Given the description of an element on the screen output the (x, y) to click on. 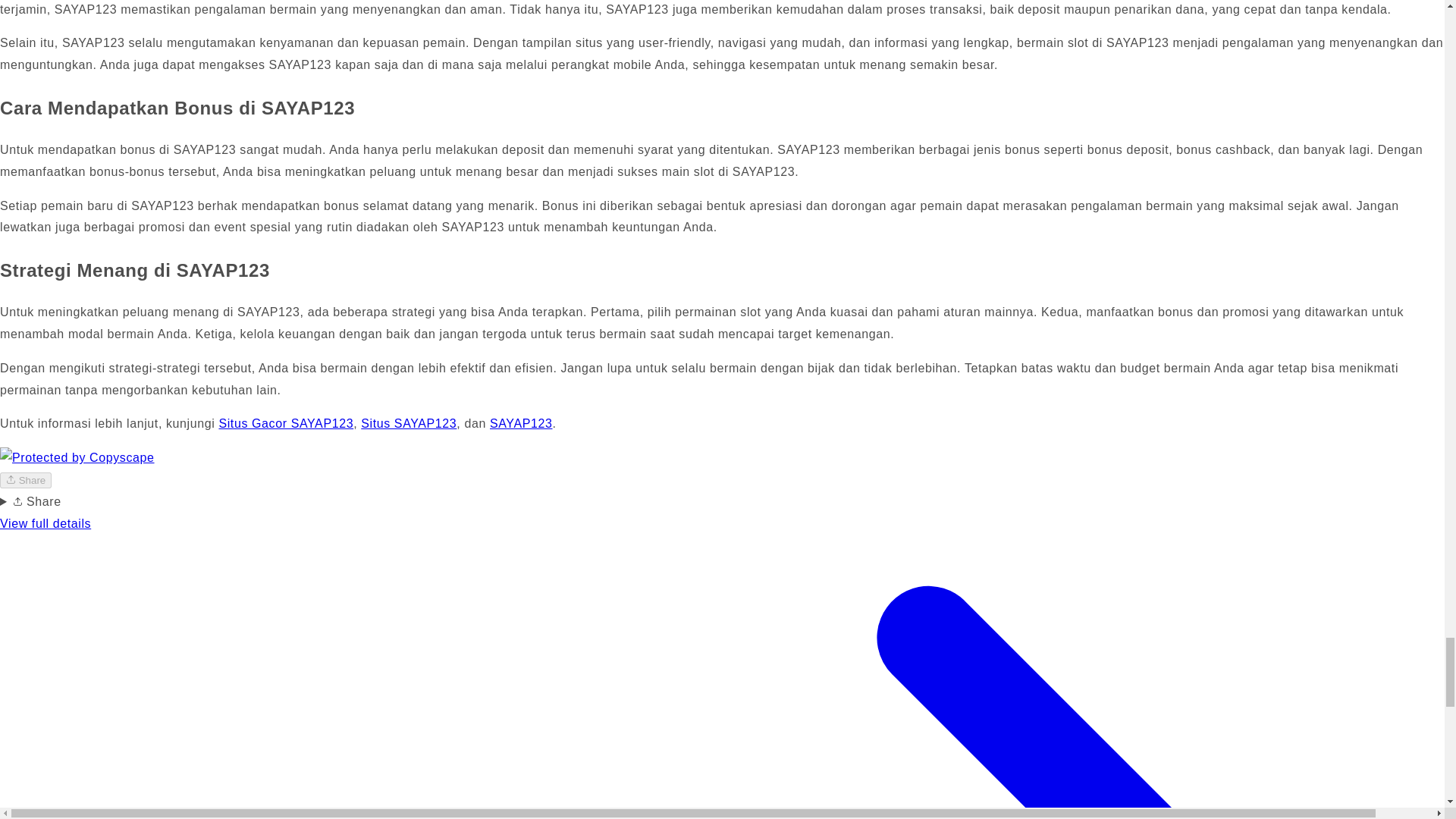
Situs SAYAP123 (409, 422)
SAYAP123 (520, 422)
Situs Gacor SAYAP123 (285, 422)
Share (25, 480)
Protected by Copyscape - Do not copy content from this page. (77, 458)
